Given the description of an element on the screen output the (x, y) to click on. 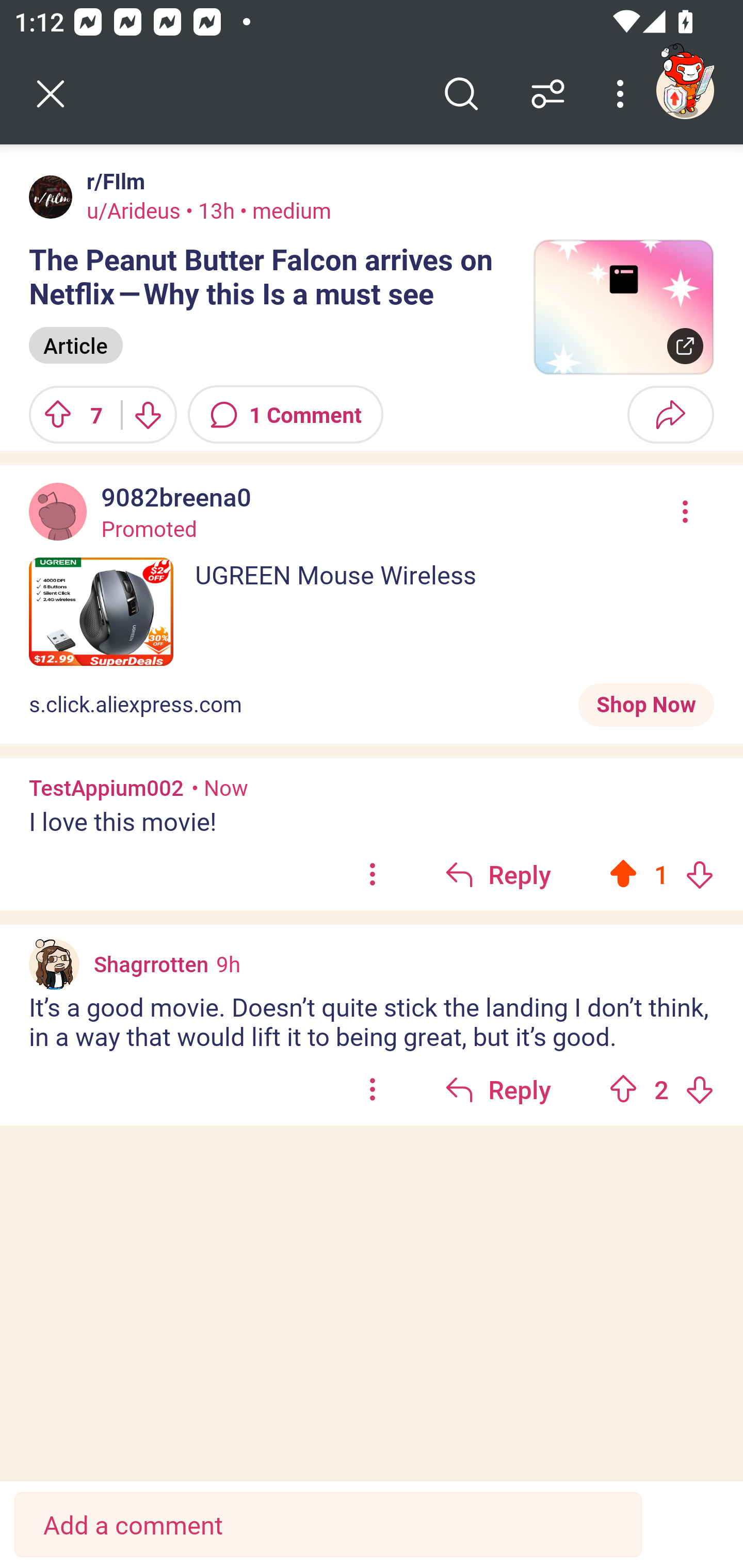
Back (50, 93)
TestAppium002 account (685, 90)
Search comments (460, 93)
Sort comments (547, 93)
More options (623, 93)
r/FIlm (112, 181)
Avatar (50, 196)
u/Arideus (133, 210)
 • medium (282, 210)
Thumbnail image (623, 306)
Article (75, 345)
Upvote 7 (67, 414)
Downvote (146, 414)
1 Comment (285, 414)
Share (670, 414)
• Now (219, 787)
I love this movie! (371, 821)
options (372, 874)
Reply (498, 874)
Upvote 1 1 vote Downvote (661, 874)
Upvote (622, 874)
Downvote (699, 874)
Custom avatar (53, 964)
9h (228, 963)
options (372, 1089)
Reply (498, 1089)
Upvote 2 2 votes Downvote (661, 1089)
Upvote (622, 1089)
Downvote (699, 1089)
Add a comment (327, 1524)
